Given the description of an element on the screen output the (x, y) to click on. 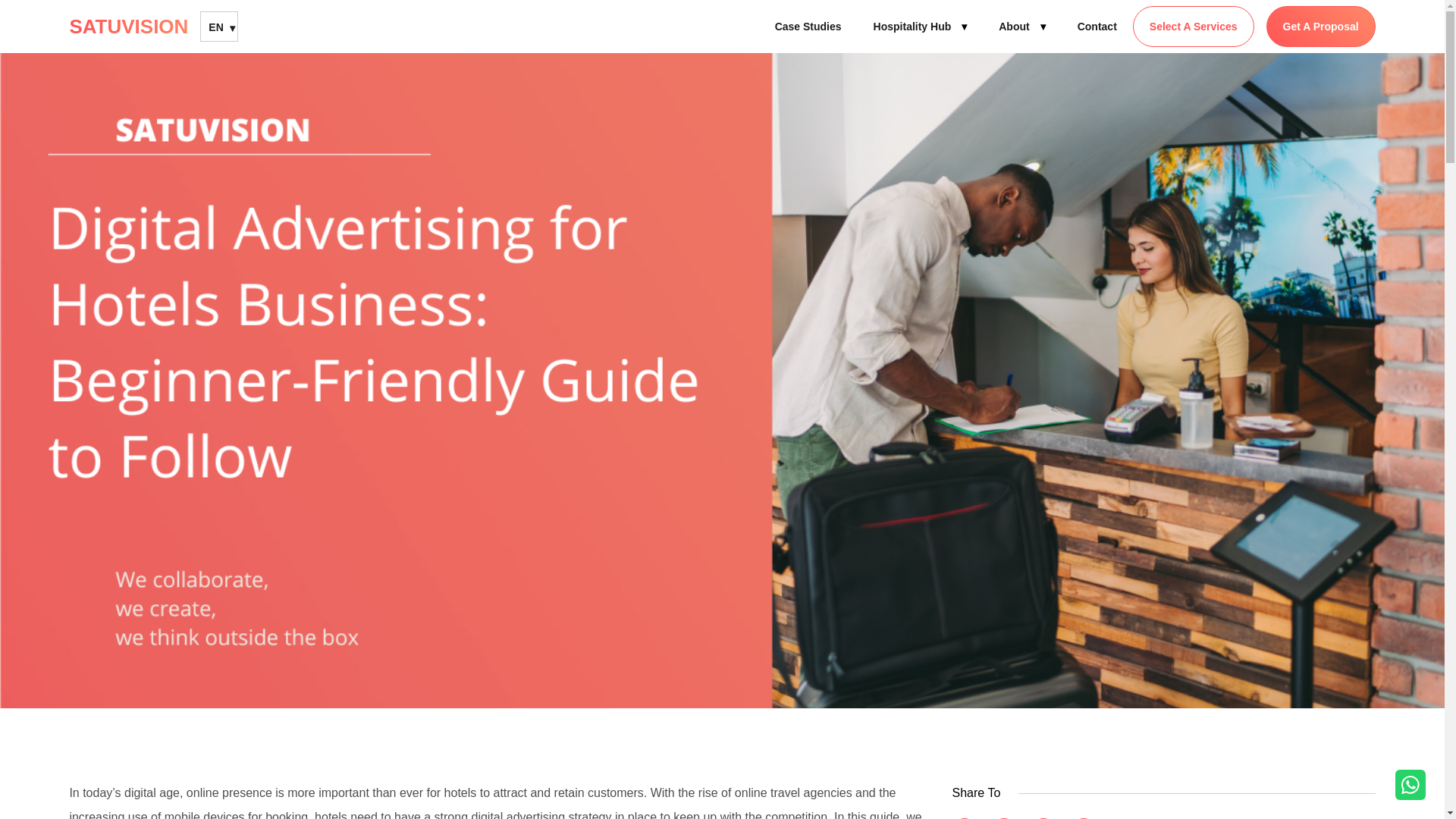
Get A Proposal (1320, 25)
Toggle Drop-down (963, 26)
Case Studies (807, 25)
Select A Services (1192, 25)
Contact (1096, 25)
Toggle Drop-down (1043, 26)
EN (218, 26)
SATUVISION (134, 26)
